Given the description of an element on the screen output the (x, y) to click on. 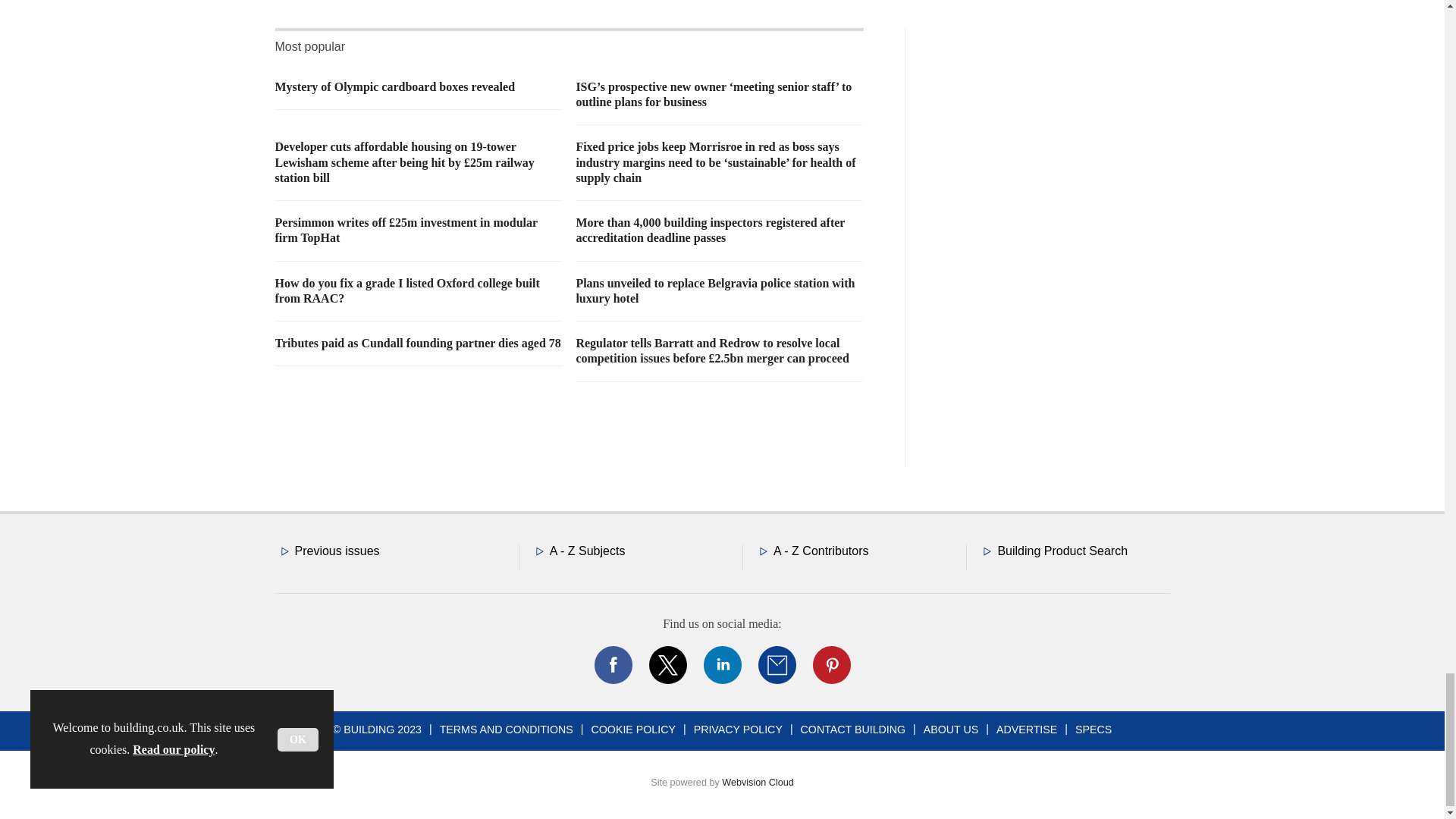
Connect with us on Pinterest (830, 664)
Connect with us on Facebook (611, 664)
Email us (776, 664)
Connect with us on Linked in (721, 664)
Connect with us on Twitter (667, 664)
